Given the description of an element on the screen output the (x, y) to click on. 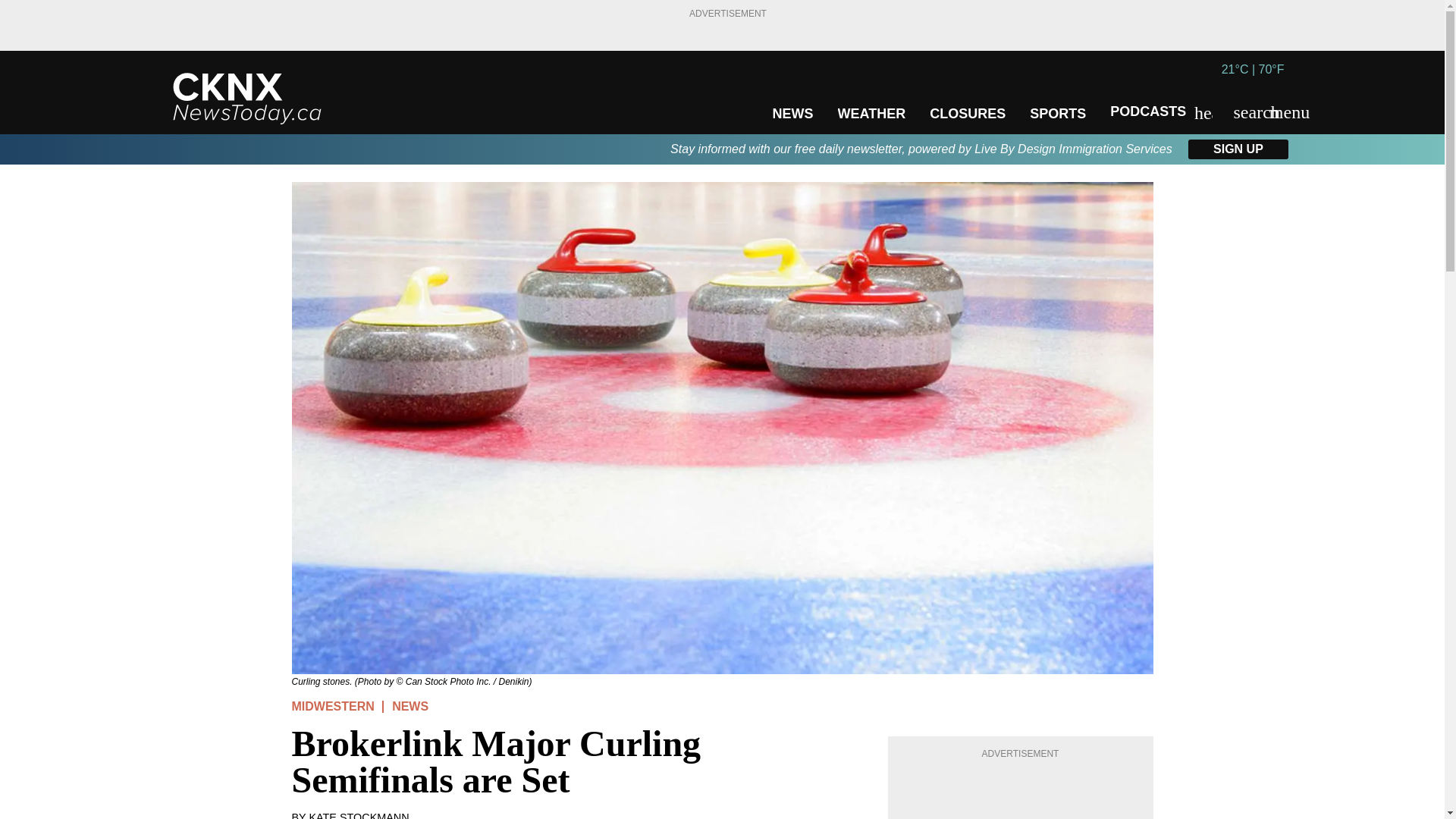
MIDWESTERN (332, 706)
search (1242, 112)
3rd party ad content (1020, 792)
menu (1278, 112)
SPORTS (1057, 114)
SIGN UP (1238, 148)
NEWS (409, 706)
WEATHER (871, 114)
CLOSURES (968, 114)
NEWS (791, 114)
